Given the description of an element on the screen output the (x, y) to click on. 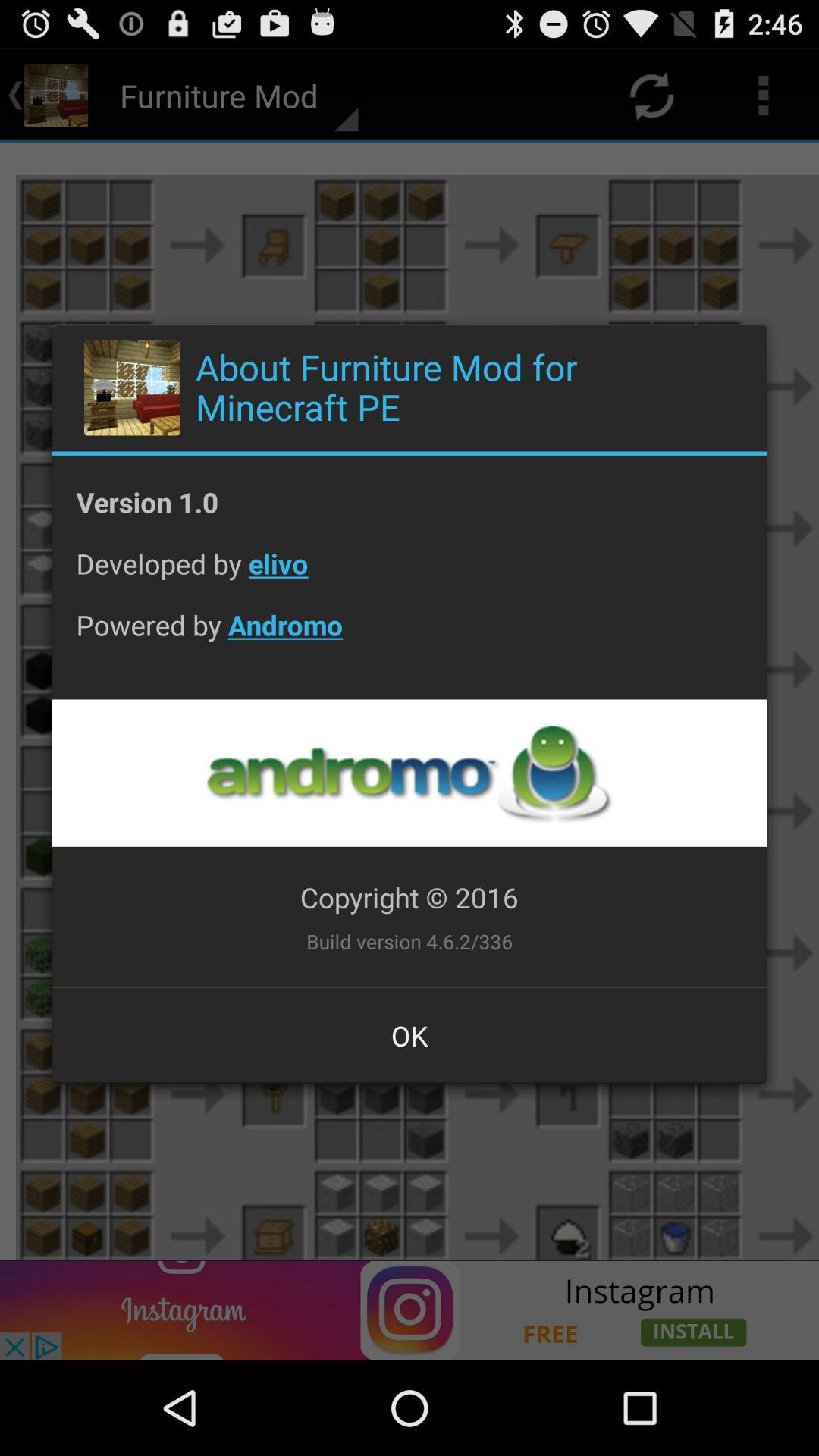
swipe to ok icon (409, 1035)
